Given the description of an element on the screen output the (x, y) to click on. 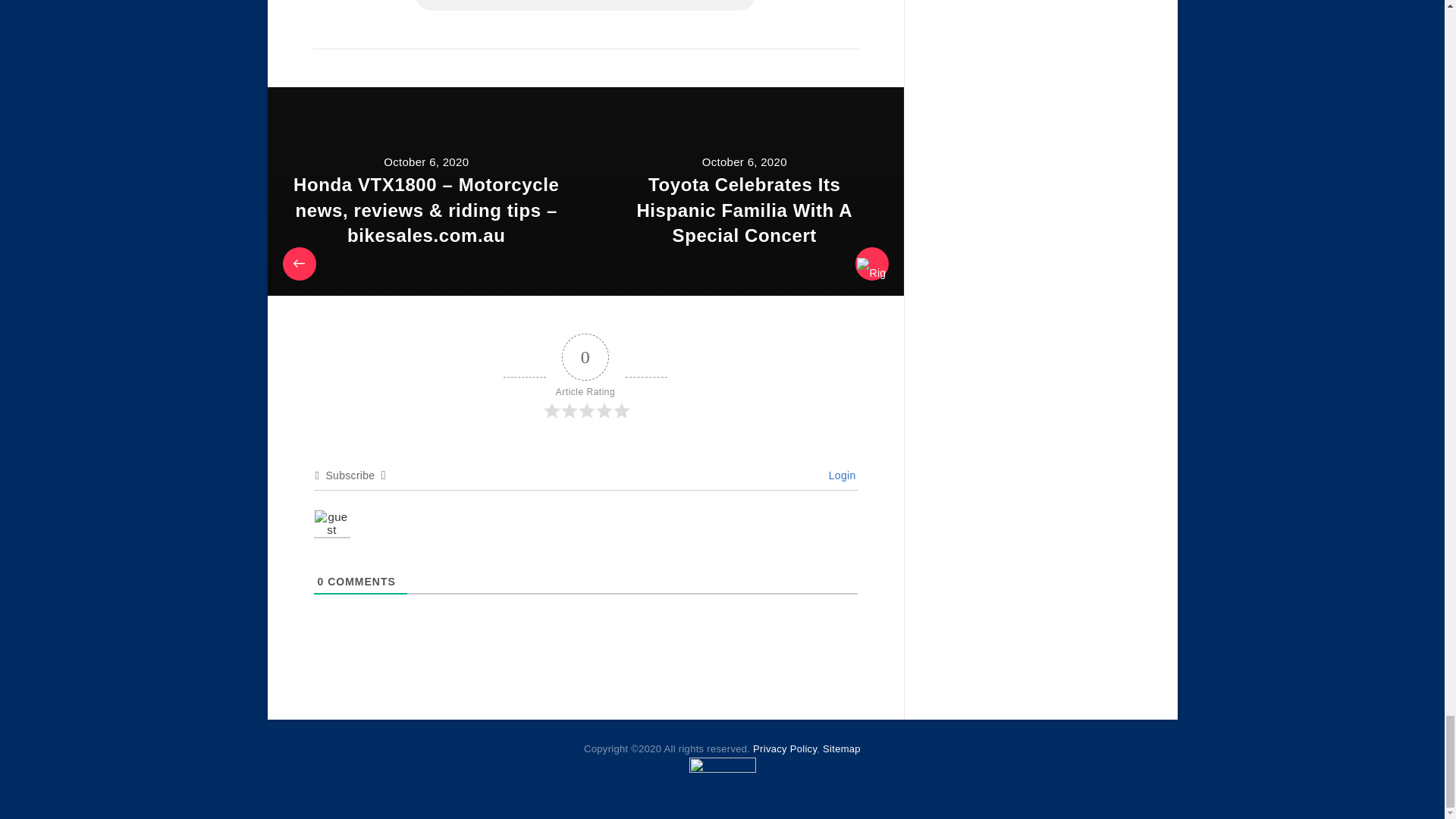
Login (840, 475)
